Given the description of an element on the screen output the (x, y) to click on. 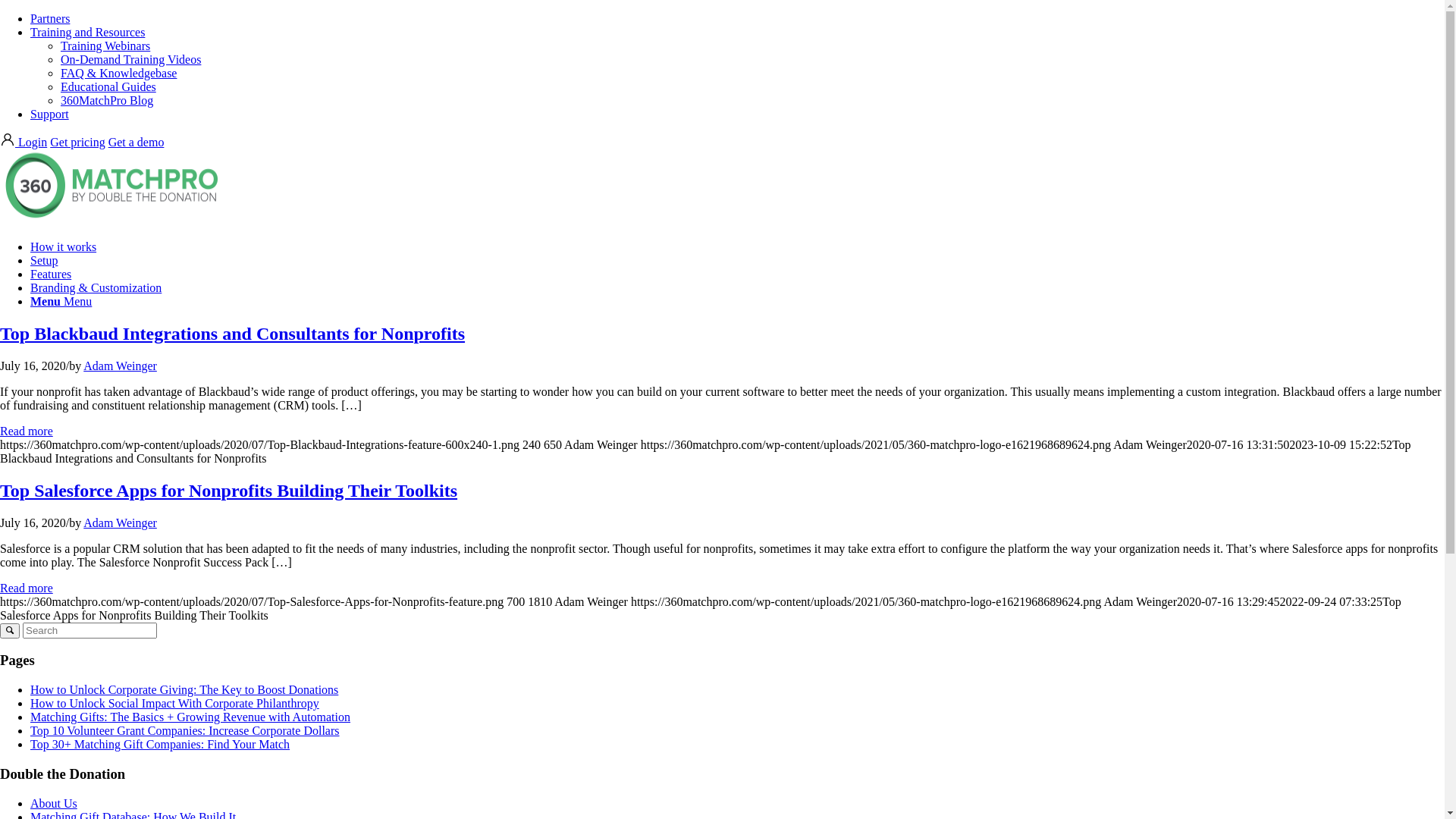
360MatchPro Blog Element type: text (106, 100)
Matching Gifts: The Basics + Growing Revenue with Automation Element type: text (190, 716)
Get pricing Element type: text (77, 141)
Educational Guides Element type: text (108, 86)
Training Webinars Element type: text (105, 45)
Top Salesforce Apps for Nonprofits Building Their Toolkits Element type: text (228, 490)
Support Element type: text (49, 113)
Branding & Customization Element type: text (95, 287)
FAQ & Knowledgebase Element type: text (118, 72)
About Us Element type: text (53, 802)
360 matchpro logo Element type: hover (113, 187)
Top Blackbaud Integrations and Consultants for Nonprofits Element type: text (232, 333)
Features Element type: text (50, 273)
Get a demo Element type: text (136, 141)
How it works Element type: text (63, 246)
How to Unlock Social Impact With Corporate Philanthropy Element type: text (174, 702)
Menu Menu Element type: text (60, 300)
Adam Weinger Element type: text (119, 522)
Training and Resources Element type: text (87, 31)
Adam Weinger Element type: text (119, 365)
On-Demand Training Videos Element type: text (130, 59)
Setup Element type: text (43, 260)
Login Element type: text (23, 141)
Top 10 Volunteer Grant Companies: Increase Corporate Dollars Element type: text (184, 730)
How to Unlock Corporate Giving: The Key to Boost Donations Element type: text (184, 689)
Read more Element type: text (26, 587)
Top 30+ Matching Gift Companies: Find Your Match Element type: text (159, 743)
Partners Element type: text (49, 18)
Read more Element type: text (26, 430)
